Given the description of an element on the screen output the (x, y) to click on. 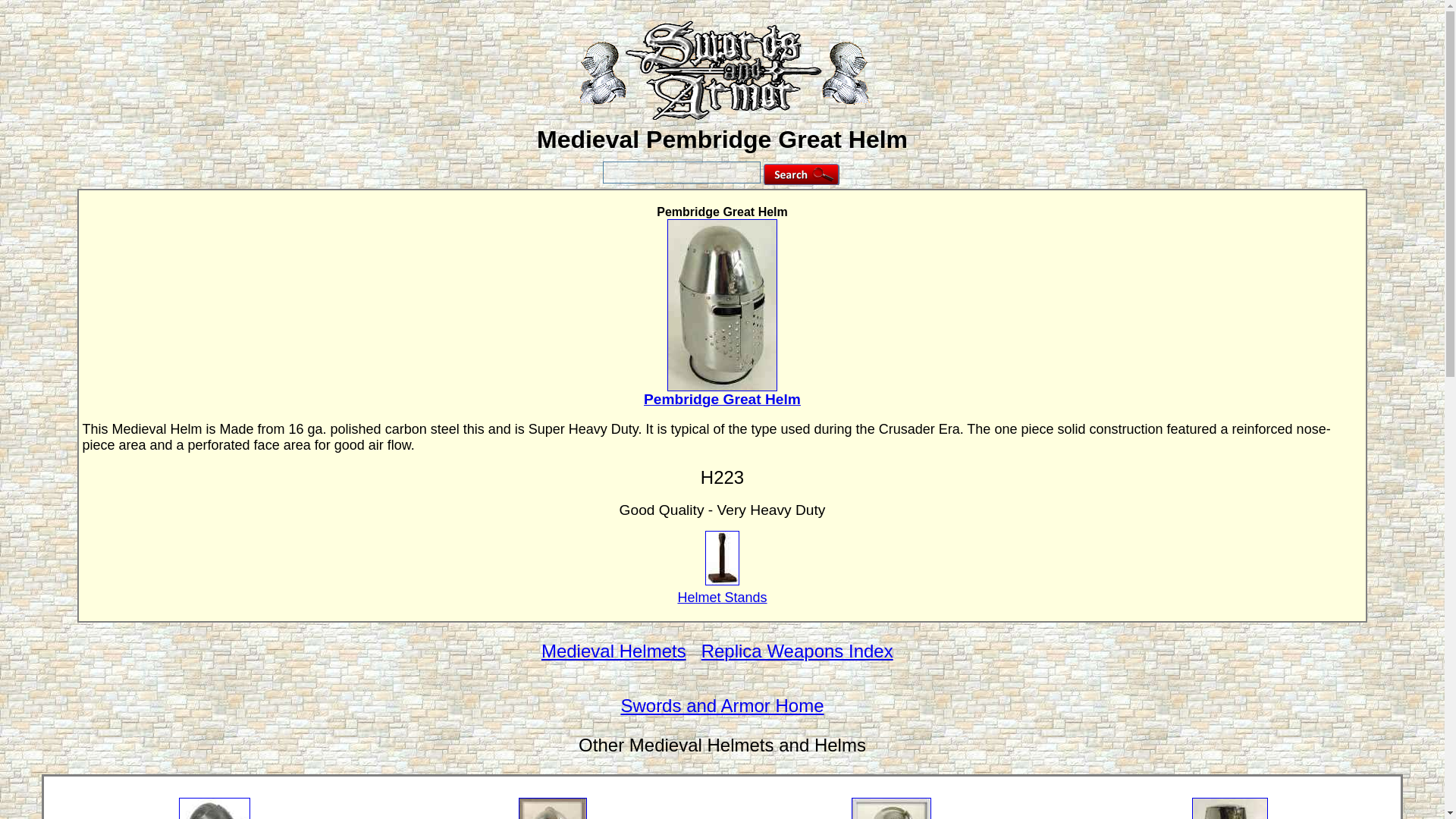
Pembridge Great Helm (721, 399)
Medieval Helmets (613, 650)
Replica Weapons Index (797, 650)
Swords and Armor Home (722, 705)
Helmet Stands (722, 597)
